Given the description of an element on the screen output the (x, y) to click on. 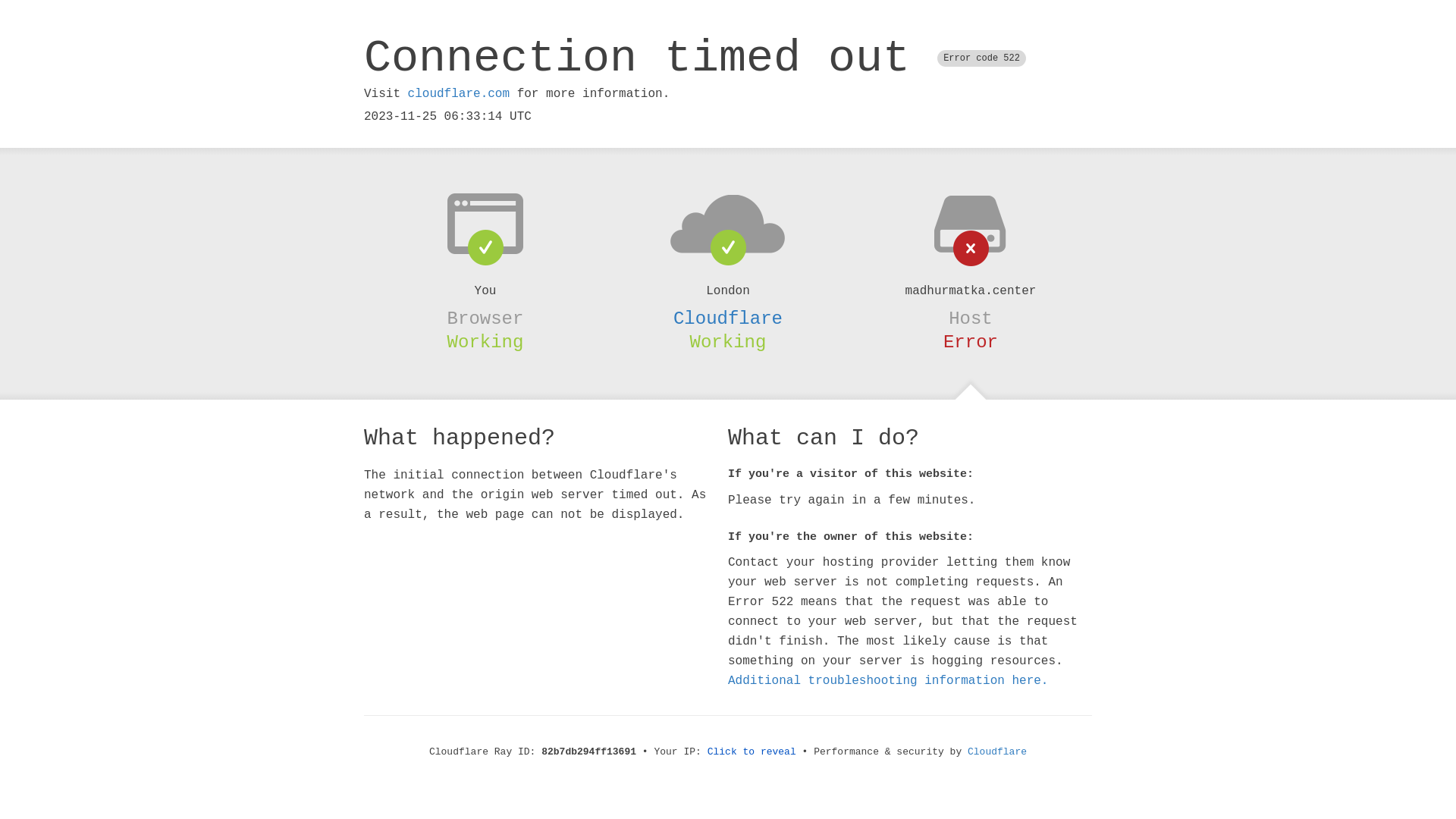
Additional troubleshooting information here. Element type: text (888, 680)
cloudflare.com Element type: text (458, 93)
Click to reveal Element type: text (751, 751)
Cloudflare Element type: text (727, 318)
Cloudflare Element type: text (996, 751)
